Given the description of an element on the screen output the (x, y) to click on. 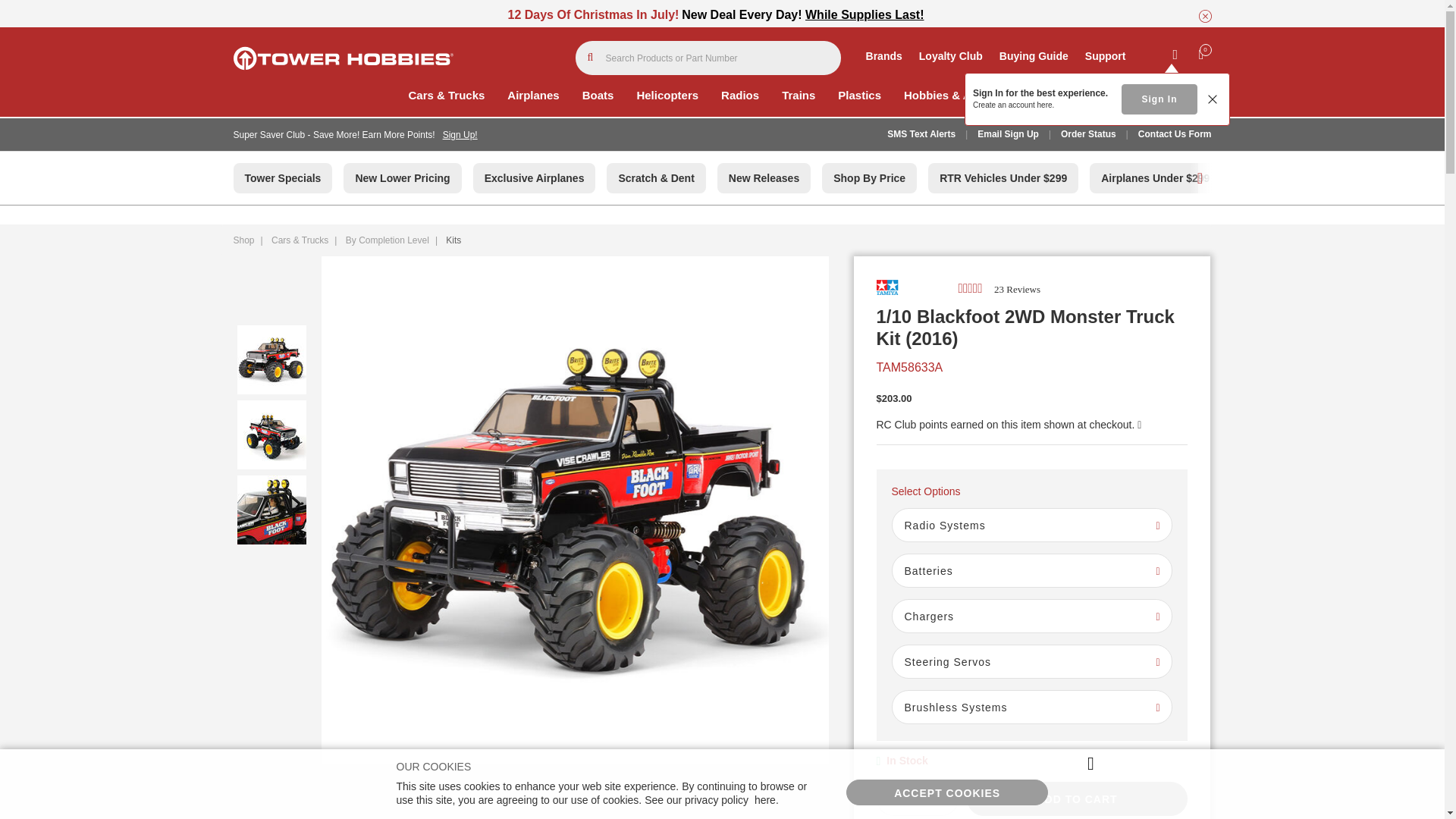
Tower Hobbies Home (342, 58)
ICON-CLOSE (1204, 14)
1 (916, 798)
ICON-CLOSE (1204, 15)
